Given the description of an element on the screen output the (x, y) to click on. 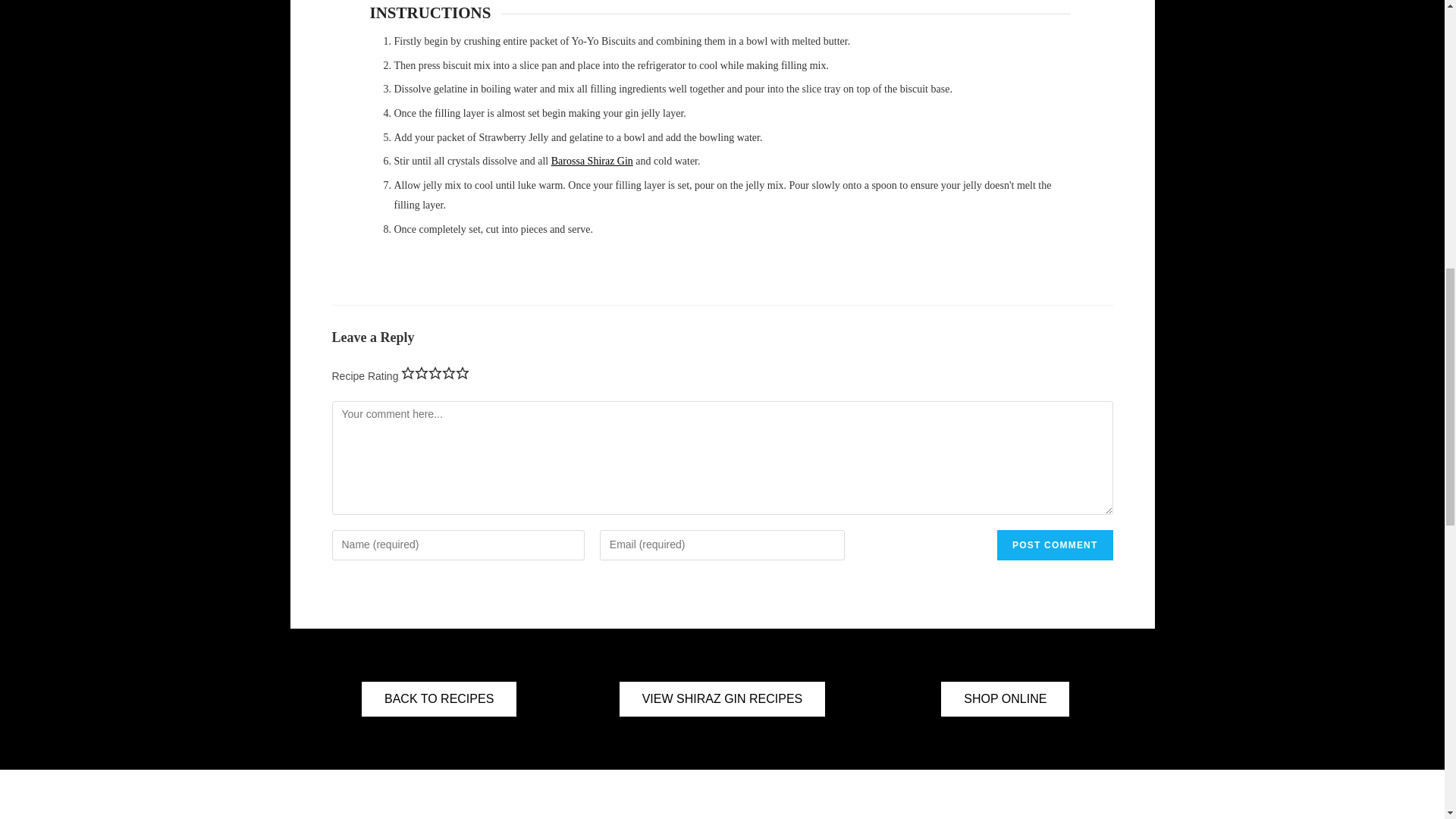
SHOP ONLINE (1004, 698)
Barossa Shiraz Gin (592, 161)
Post Comment (1054, 544)
Post Comment (1054, 544)
VIEW SHIRAZ GIN RECIPES (722, 698)
BACK TO RECIPES (438, 698)
